Given the description of an element on the screen output the (x, y) to click on. 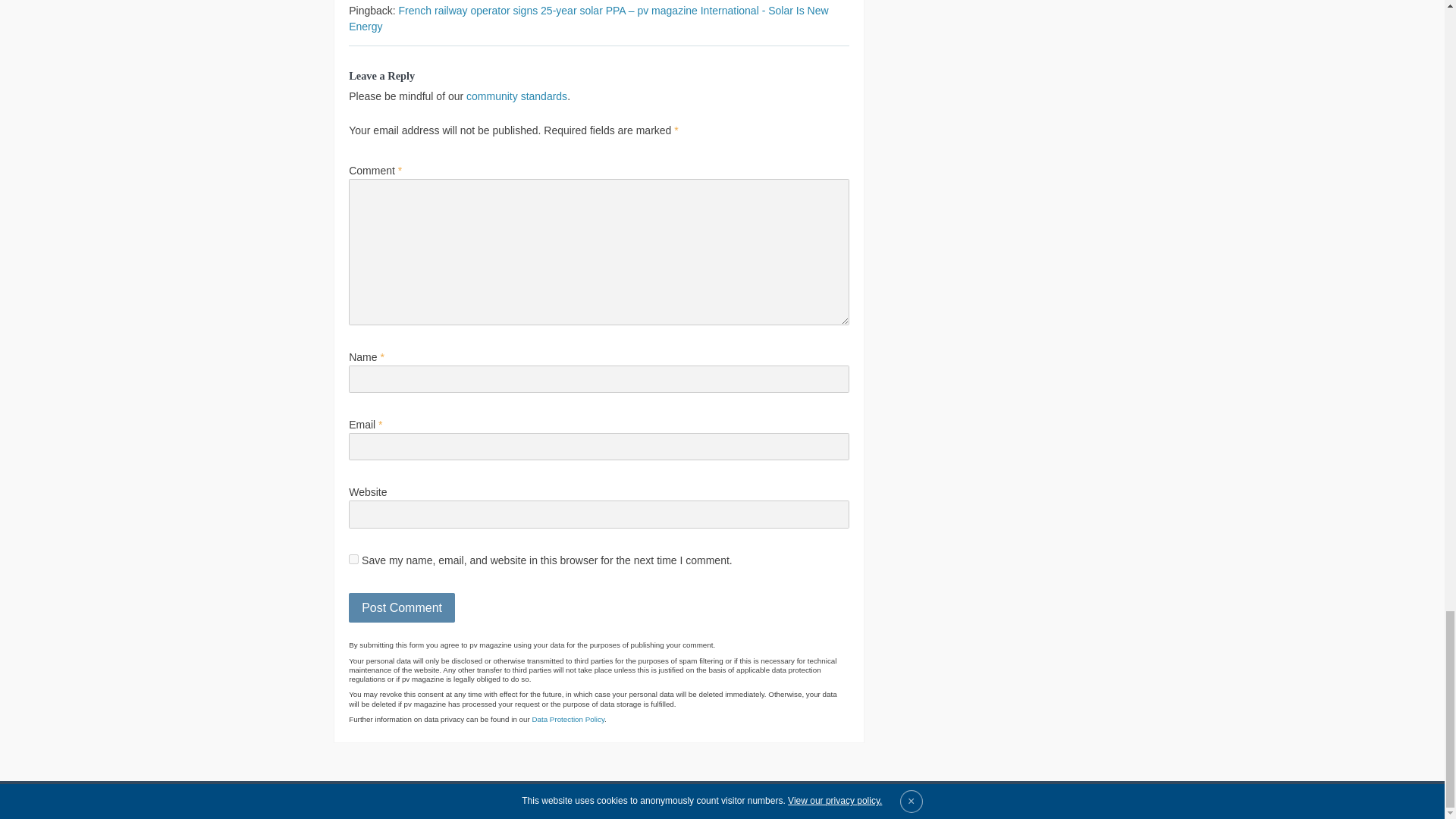
yes (353, 559)
Post Comment (401, 607)
